Given the description of an element on the screen output the (x, y) to click on. 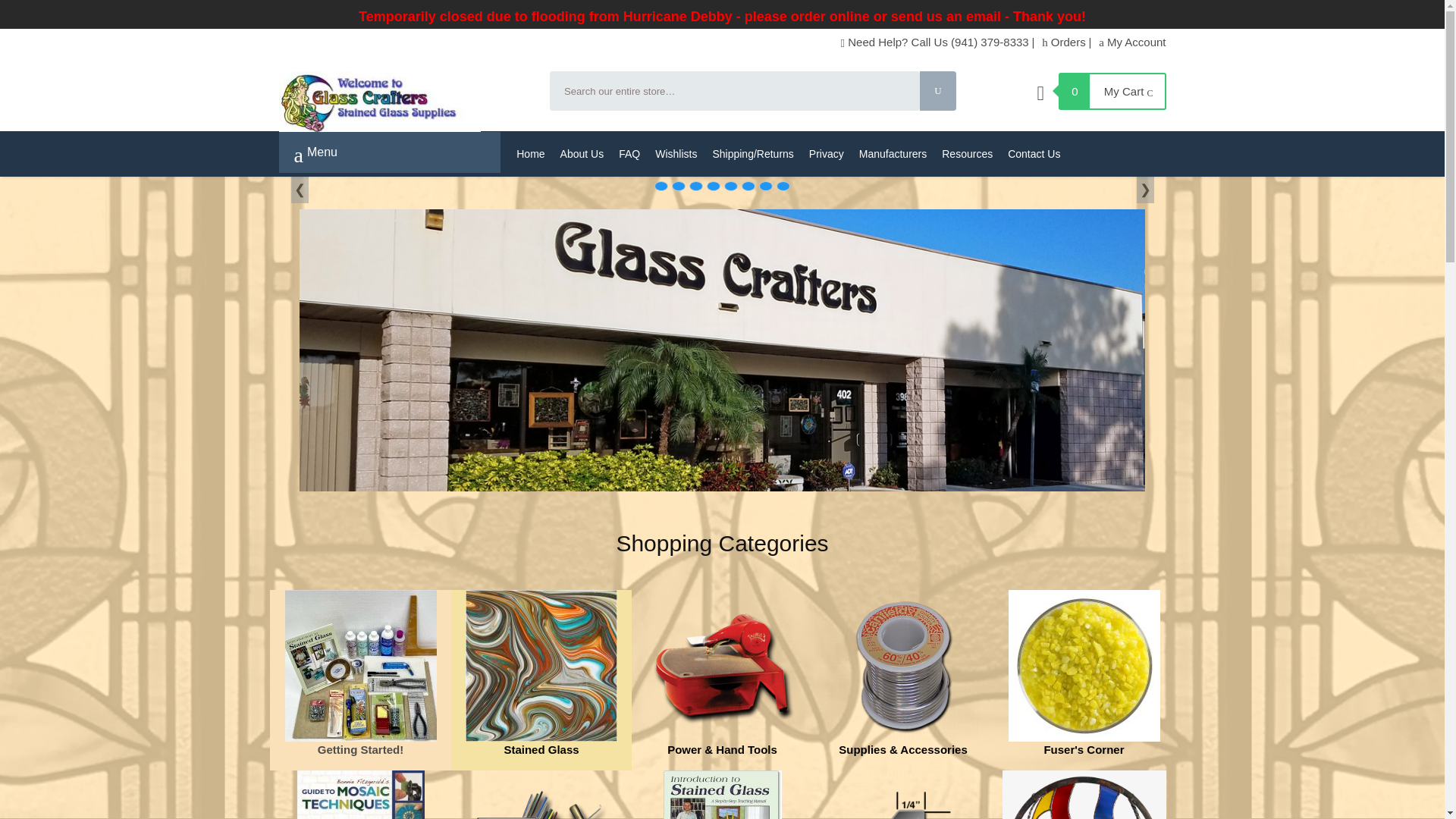
Glass Crafters Stained Glass (405, 101)
Supplies (902, 665)
Getting Started! (360, 665)
Search (938, 91)
Stained Glass (541, 665)
